Given the description of an element on the screen output the (x, y) to click on. 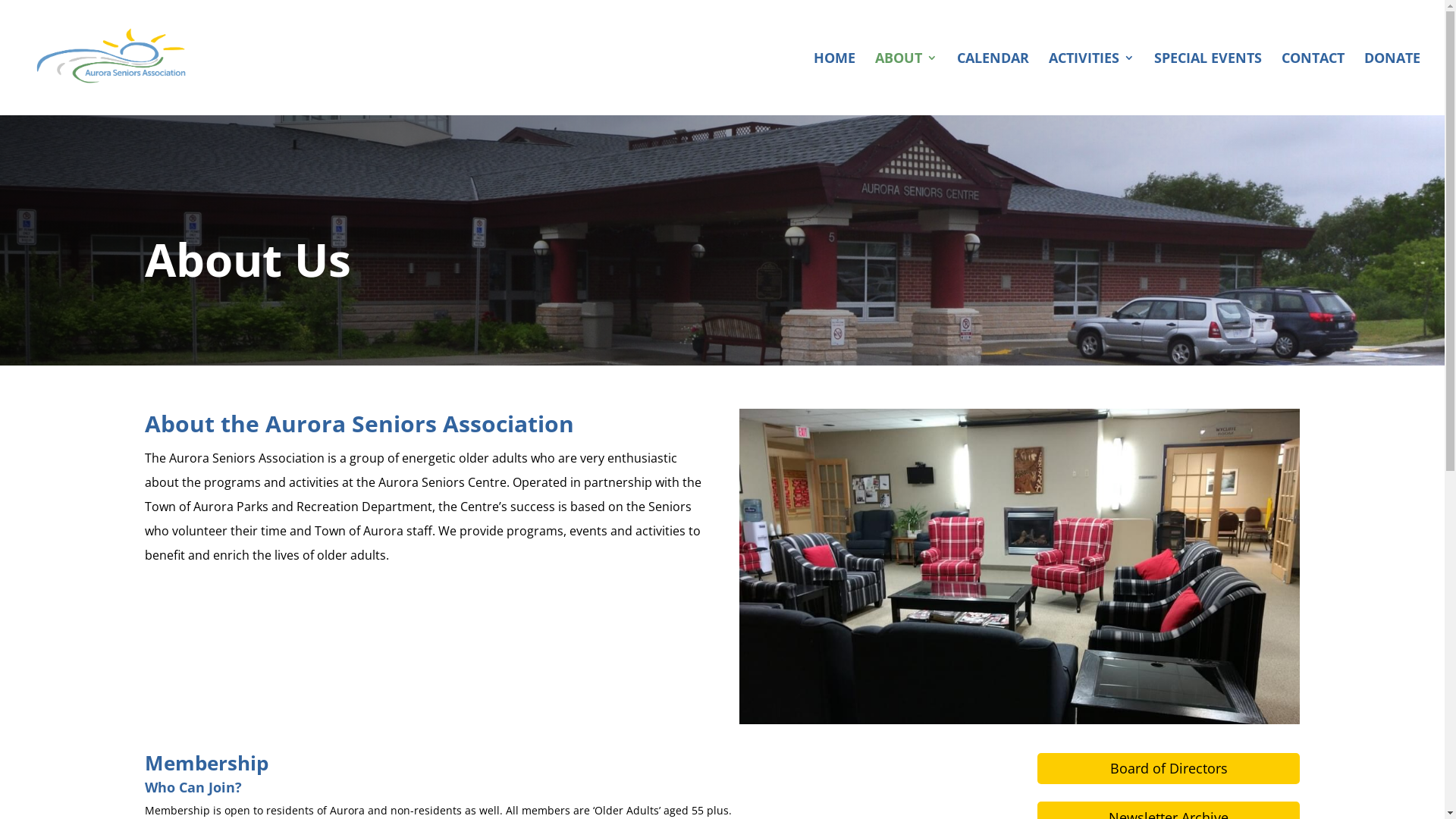
DONATE Element type: text (1392, 83)
Board of Directors Element type: text (1168, 768)
SPECIAL EVENTS Element type: text (1207, 83)
HOME Element type: text (834, 83)
ABOUT Element type: text (906, 83)
CALENDAR Element type: text (993, 83)
CONTACT Element type: text (1312, 83)
ACTIVITIES Element type: text (1091, 83)
